Given the description of an element on the screen output the (x, y) to click on. 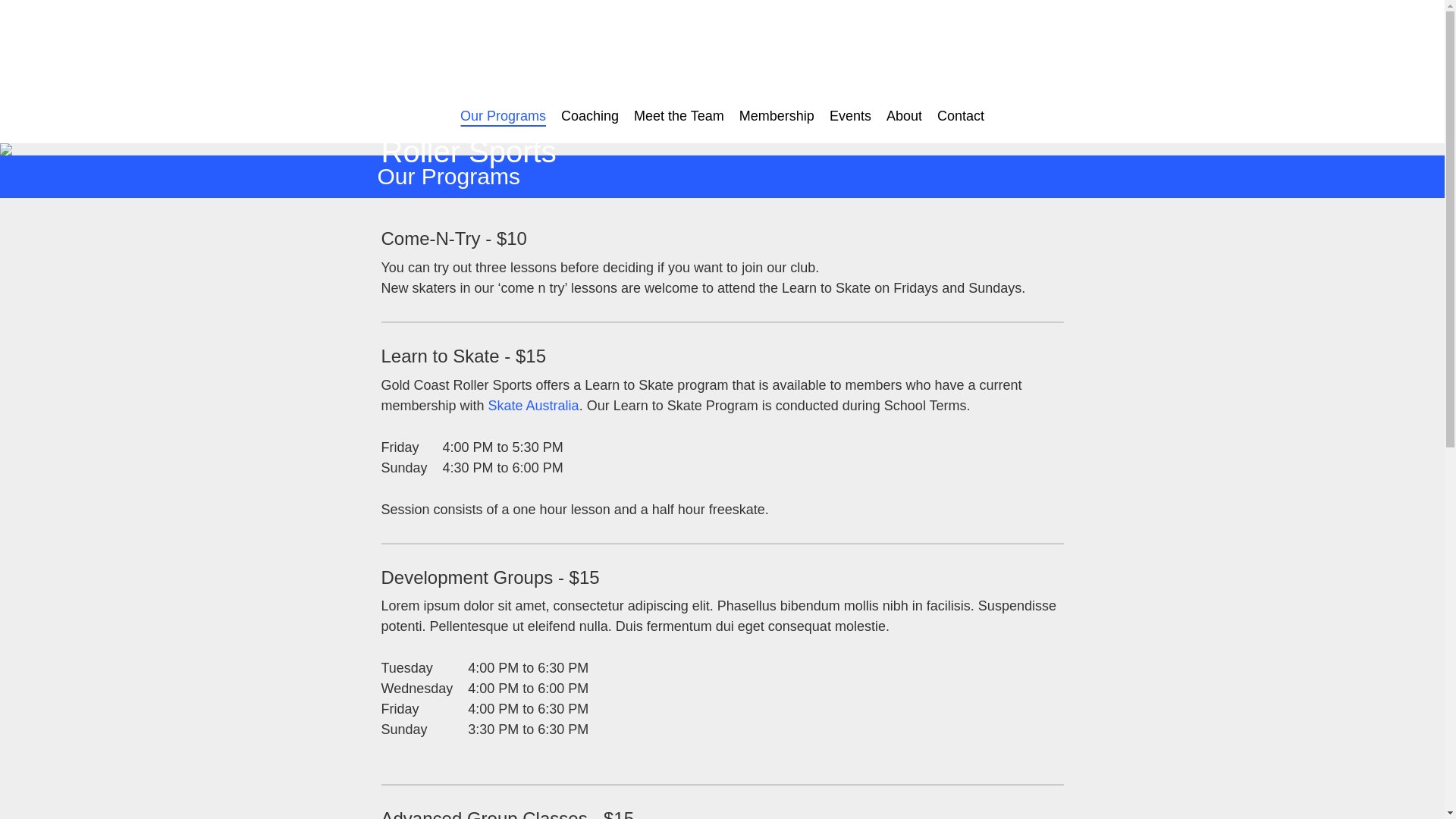
Meet the Team Element type: text (678, 116)
Skip to primary navigation Element type: text (22, 0)
Gold Coast
Roller Sports Element type: text (467, 133)
Events Element type: text (850, 116)
Our Programs Element type: text (503, 116)
Coaching Element type: text (589, 116)
Contact Element type: text (960, 116)
About Element type: text (904, 116)
Skate Australia Element type: text (533, 405)
Membership Element type: text (776, 116)
